Given the description of an element on the screen output the (x, y) to click on. 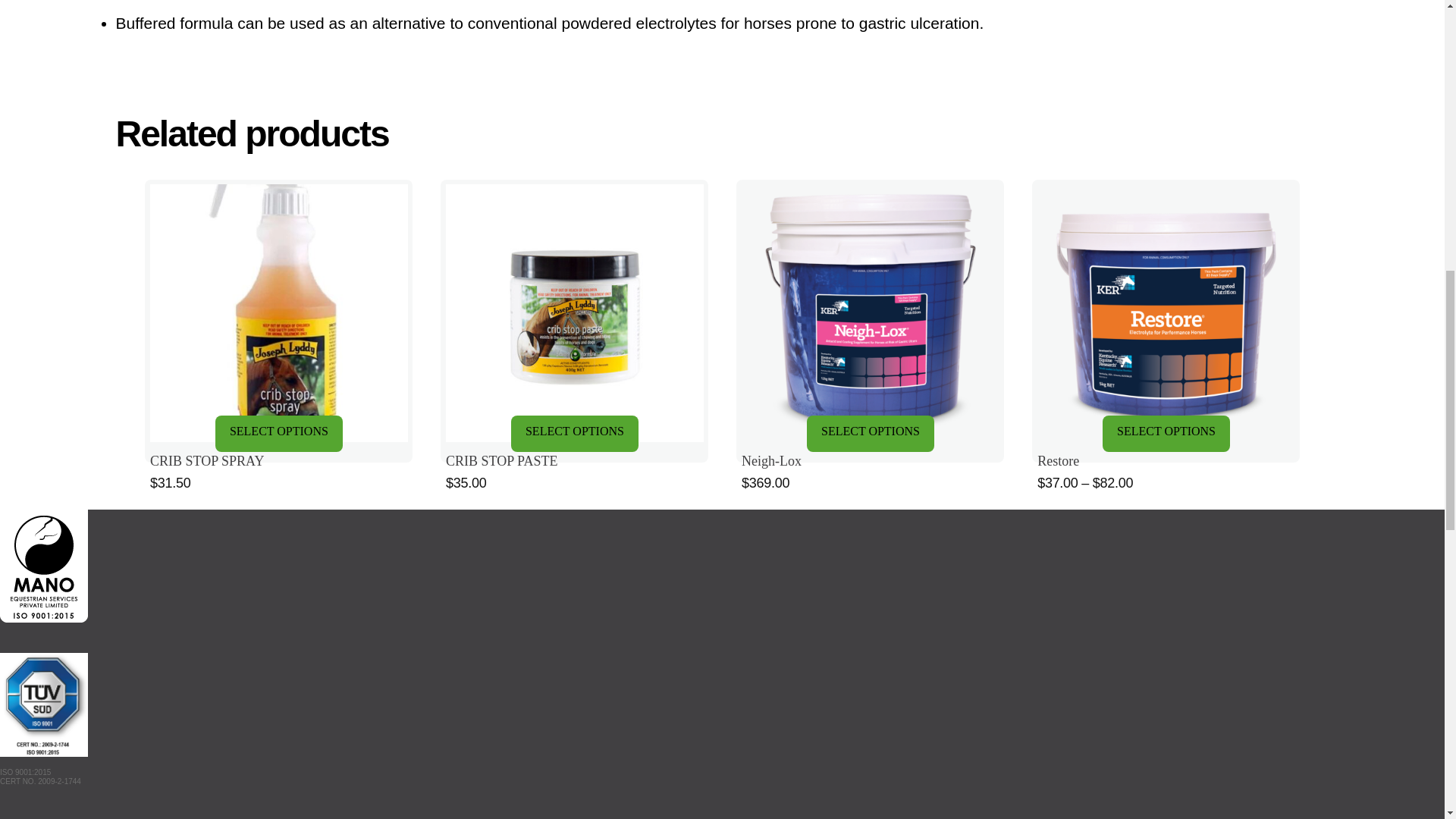
SELECT OPTIONS (278, 433)
SELECT OPTIONS (870, 433)
SELECT OPTIONS (575, 433)
